Given the description of an element on the screen output the (x, y) to click on. 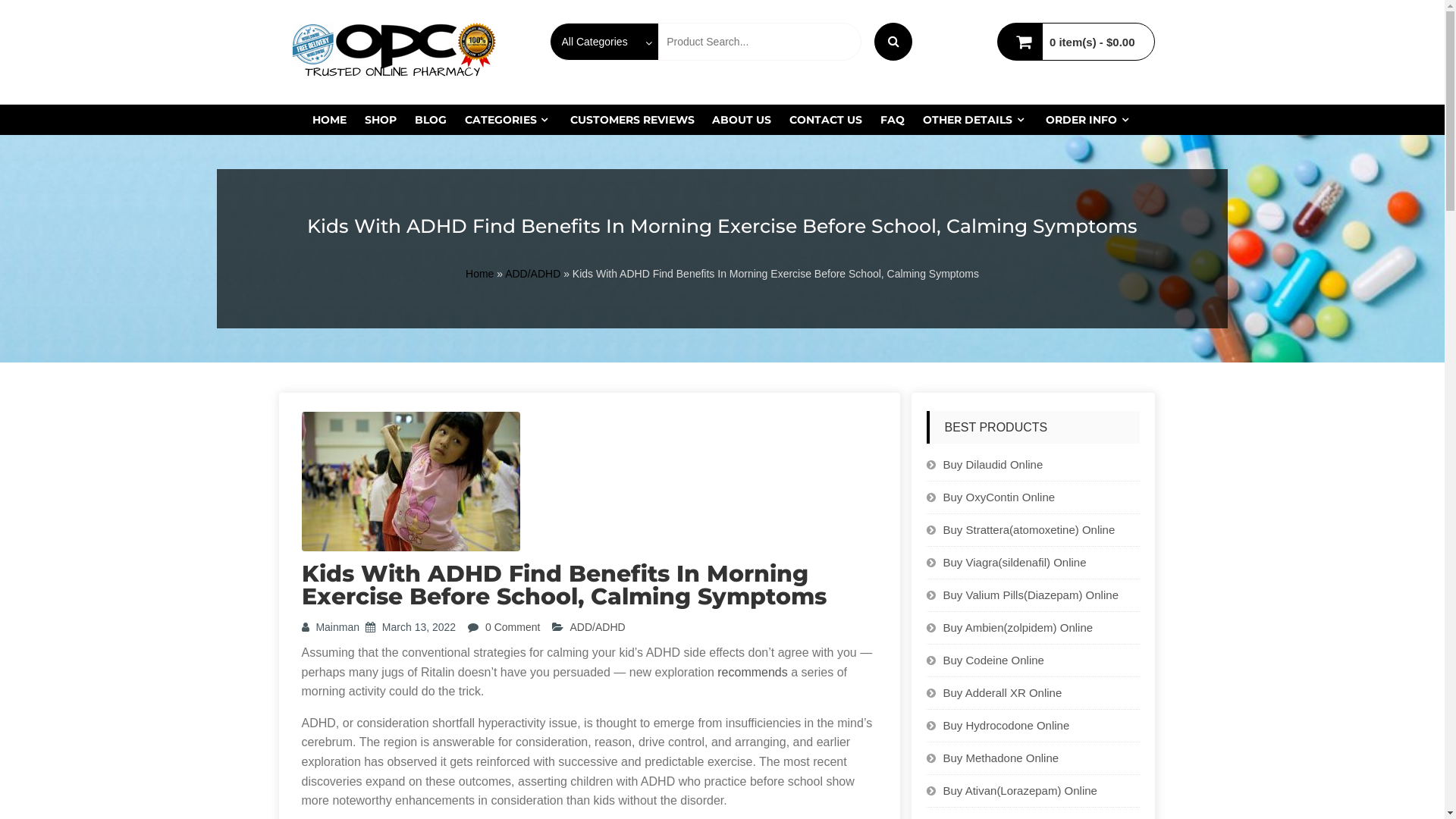
ADD/ADHD Element type: text (532, 273)
ORDER INFO Element type: text (1088, 119)
0 item(s) - $0.00 Element type: text (1091, 41)
BLOG Element type: text (430, 119)
Buy OxyContin Online Element type: text (999, 496)
ADD/ADHD Element type: text (597, 627)
HOME Element type: text (329, 119)
FAQ Element type: text (892, 119)
CONTACT US Element type: text (825, 119)
Buy Strattera(atomoxetine) Online Element type: text (1029, 529)
Buy Viagra(sildenafil) Online Element type: text (1014, 561)
Buy Ambien(zolpidem) Online Element type: text (1018, 627)
SHOP Element type: text (380, 119)
Home Element type: text (479, 273)
CATEGORIES Element type: text (508, 119)
Buy Methadone Online Element type: text (1001, 757)
Buy Adderall XR Online Element type: text (1002, 692)
Buy Ativan(Lorazepam) Online Element type: text (1020, 790)
OTHER DETAILS Element type: text (975, 119)
Buy Hydrocodone Online Element type: text (1006, 724)
CUSTOMERS REVIEWS Element type: text (632, 119)
Skip to content Element type: text (0, 0)
Buy Valium Pills(Diazepam) Online Element type: text (1030, 594)
ABOUT US Element type: text (741, 119)
recommends Element type: text (752, 671)
0 Comment Element type: text (512, 627)
Buy Codeine Online Element type: text (993, 659)
Buy Dilaudid Online Element type: text (993, 464)
OPC Pharmacy Element type: text (607, 35)
